Given the description of an element on the screen output the (x, y) to click on. 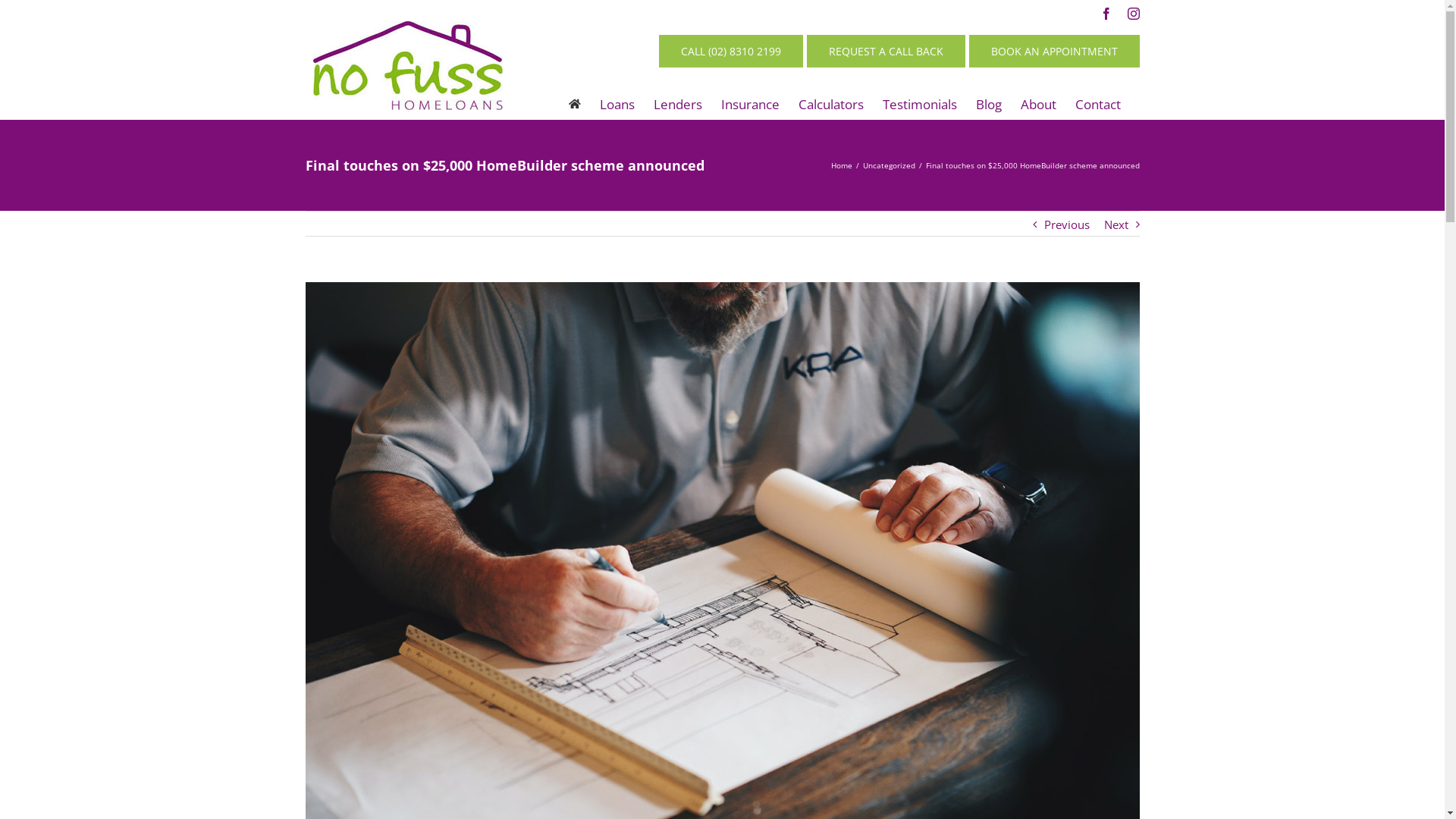
CALL (02) 8310 2199 Element type: text (730, 50)
Insurance Element type: text (749, 103)
Home Element type: text (841, 164)
Next Element type: text (1116, 224)
Loans Element type: text (616, 103)
Contact Element type: text (1097, 103)
Uncategorized Element type: text (888, 164)
Instagram Element type: text (1132, 13)
Blog Element type: text (988, 103)
REQUEST A CALL BACK Element type: text (885, 50)
Lenders Element type: text (677, 103)
Testimonials Element type: text (919, 103)
Previous Element type: text (1065, 224)
Calculators Element type: text (829, 103)
About Element type: text (1038, 103)
BOOK AN APPOINTMENT Element type: text (1054, 50)
Facebook Element type: text (1105, 13)
